Given the description of an element on the screen output the (x, y) to click on. 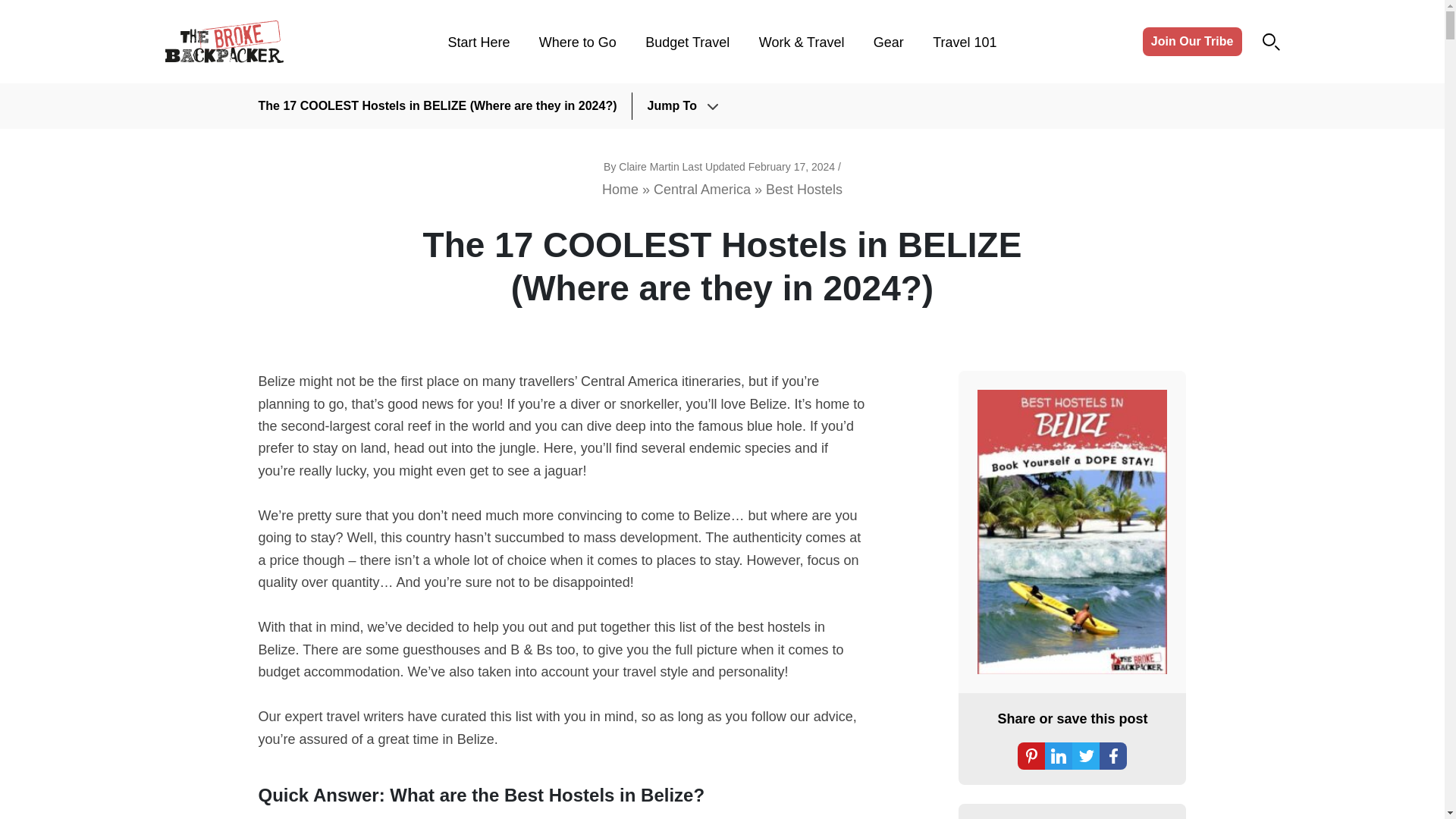
Start Here (477, 42)
Where to Go (576, 42)
